Given the description of an element on the screen output the (x, y) to click on. 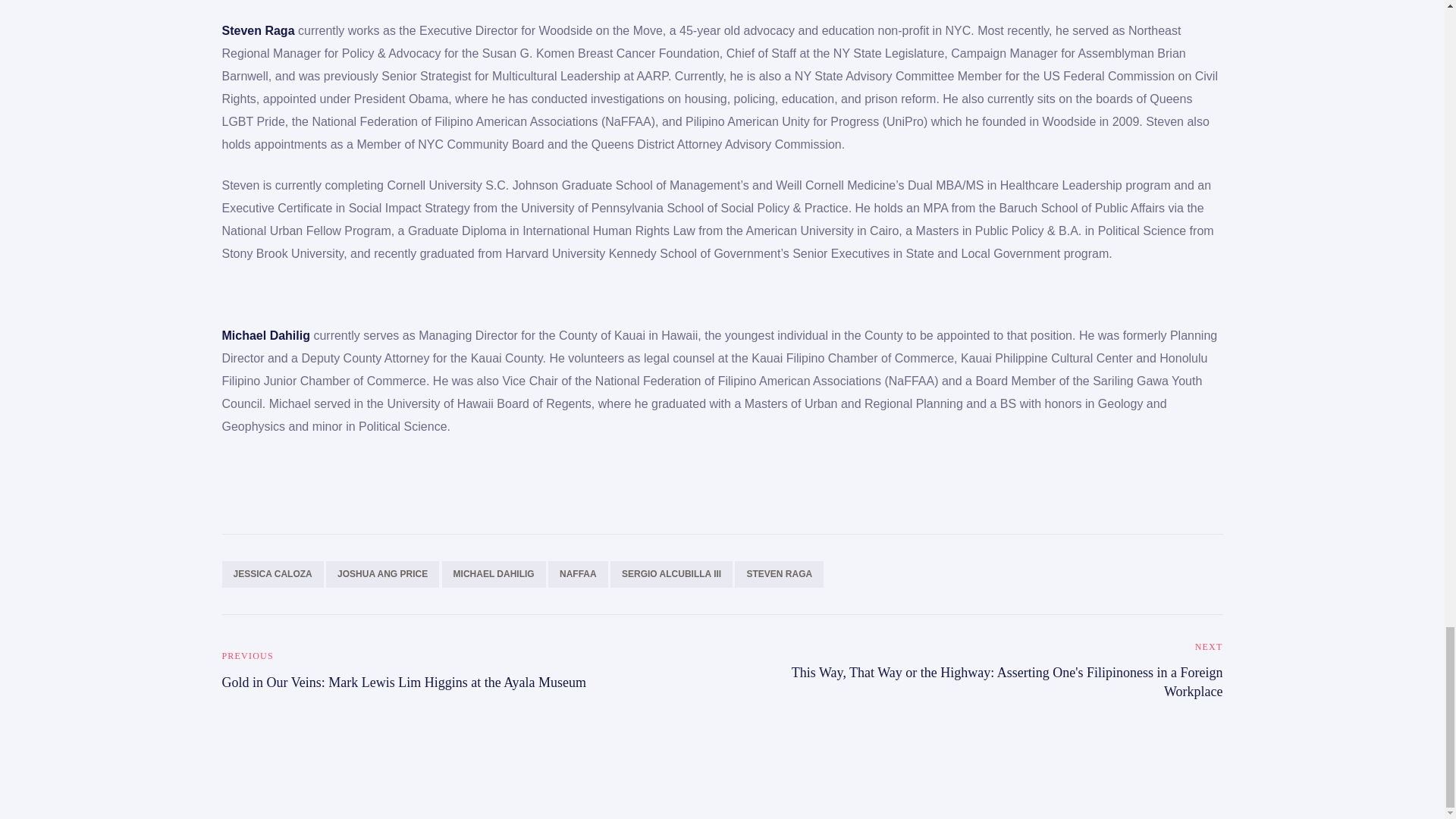
NAFFAA (578, 574)
STEVEN RAGA (779, 574)
SERGIO ALCUBILLA III (671, 574)
JESSICA CALOZA (272, 574)
JOSHUA ANG PRICE (382, 574)
MICHAEL DAHILIG (494, 574)
